Given the description of an element on the screen output the (x, y) to click on. 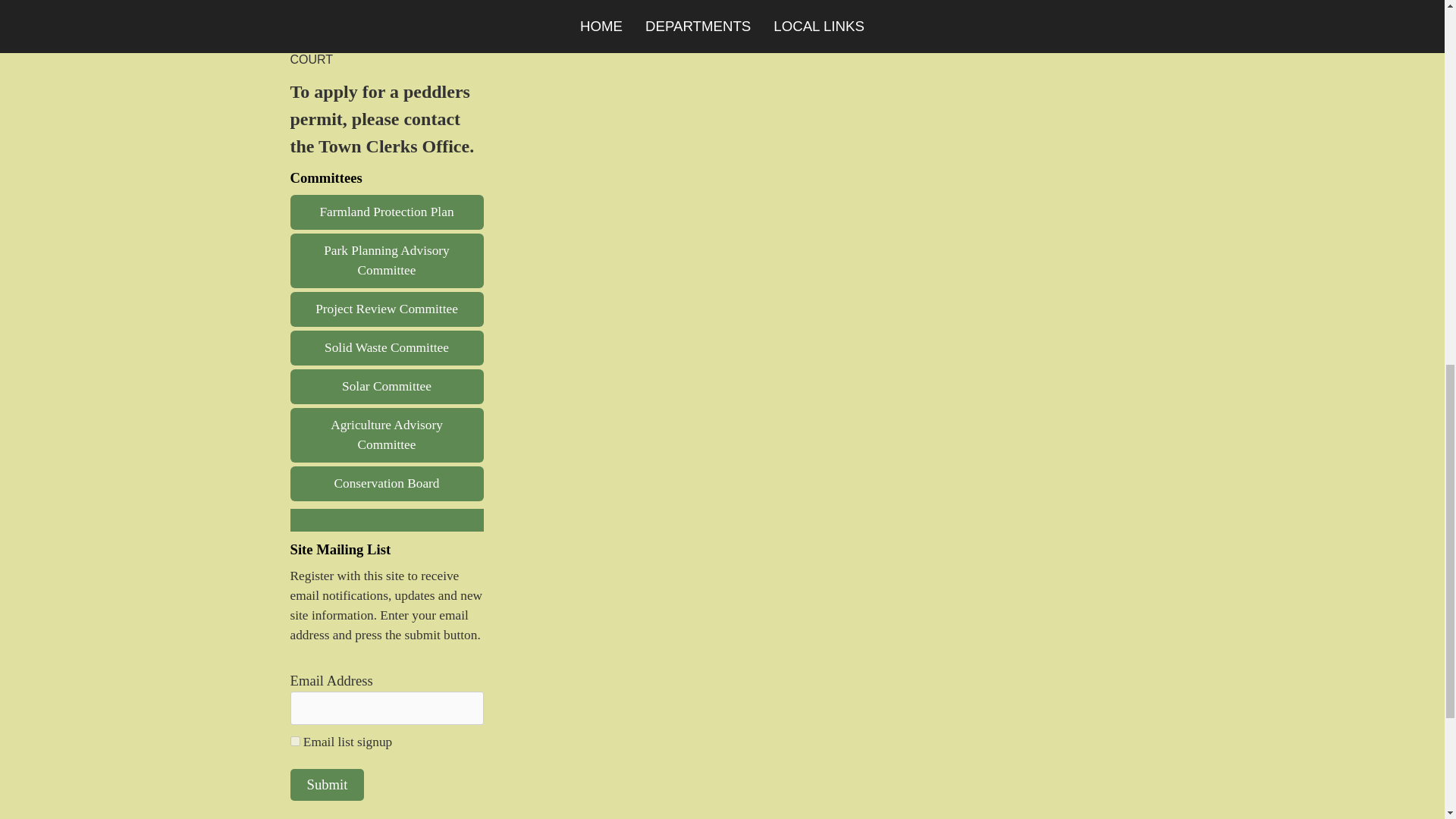
Project Review Committee (386, 308)
Agriculture Advisory Committee (386, 434)
Park Planning Advisory Committee (386, 260)
Submit (326, 784)
Conservation Board (386, 483)
on (294, 741)
Solid Waste Committee (386, 347)
Farmland Protection Plan (386, 212)
Solar Committee (386, 386)
